Given the description of an element on the screen output the (x, y) to click on. 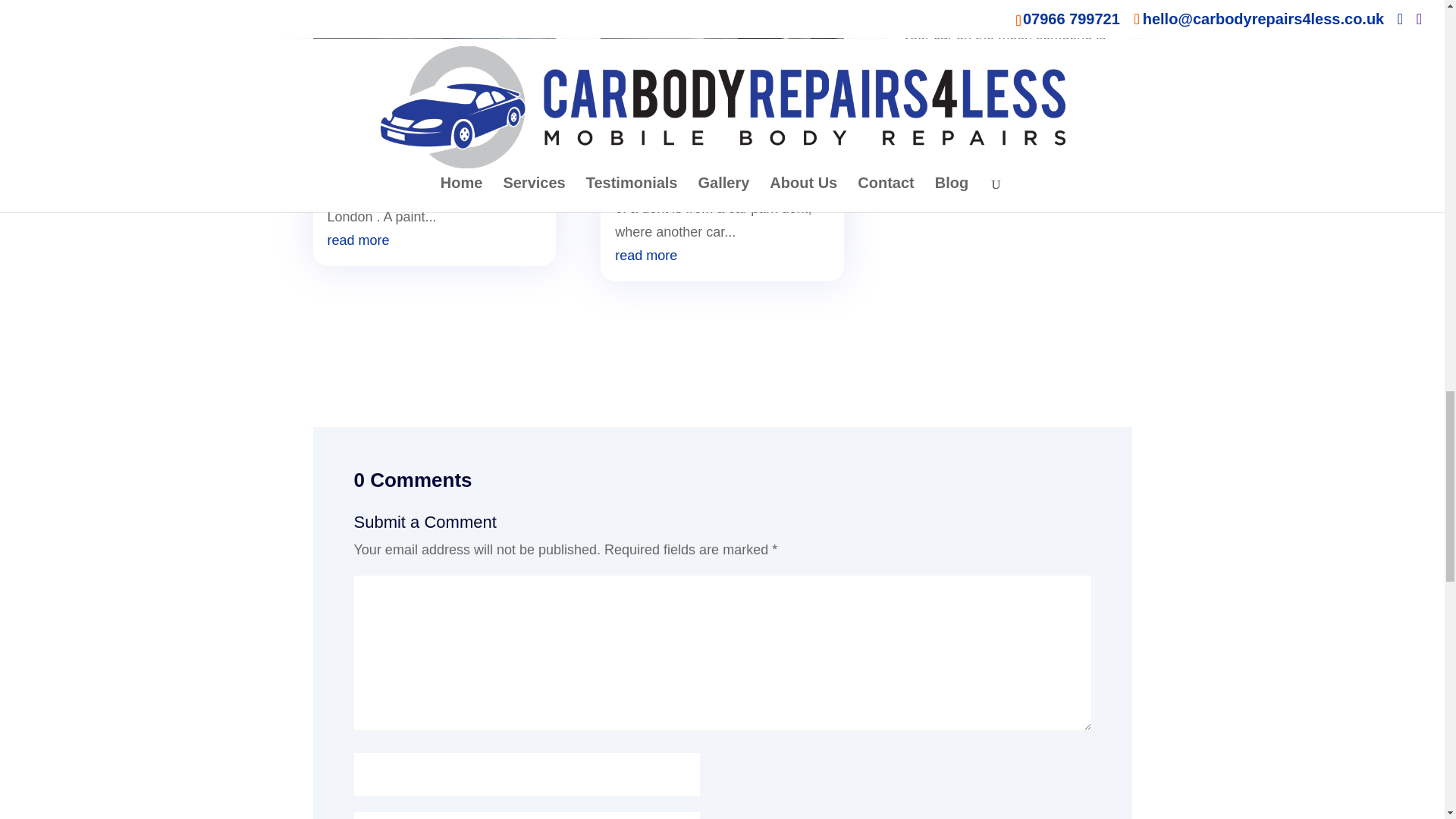
Car Dent Repairs in Hertfordshire, Essex and London (717, 129)
read more (645, 255)
read more (933, 80)
read more (358, 240)
